Given the description of an element on the screen output the (x, y) to click on. 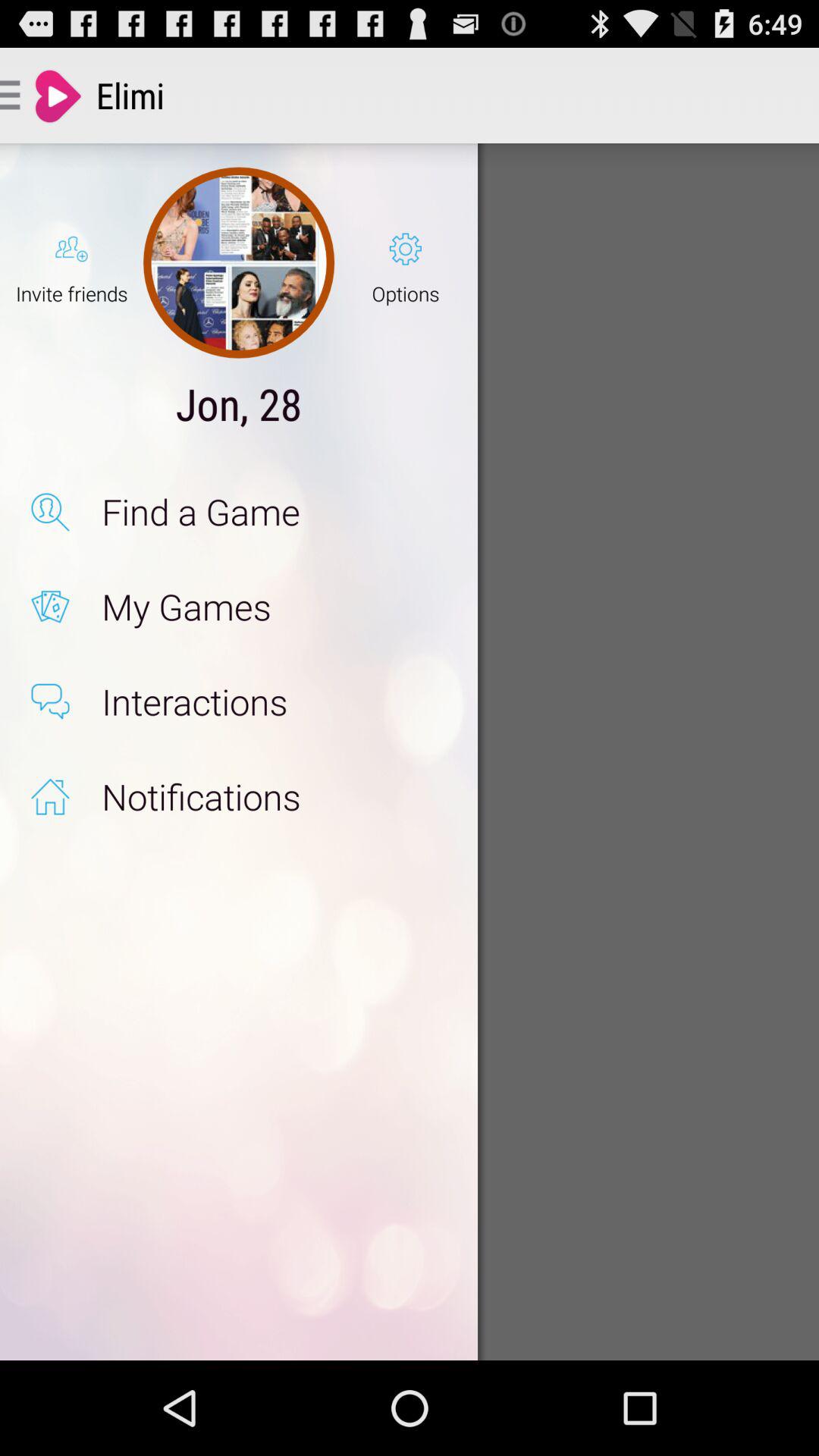
open the icon to the right of the invite friends item (238, 262)
